Given the description of an element on the screen output the (x, y) to click on. 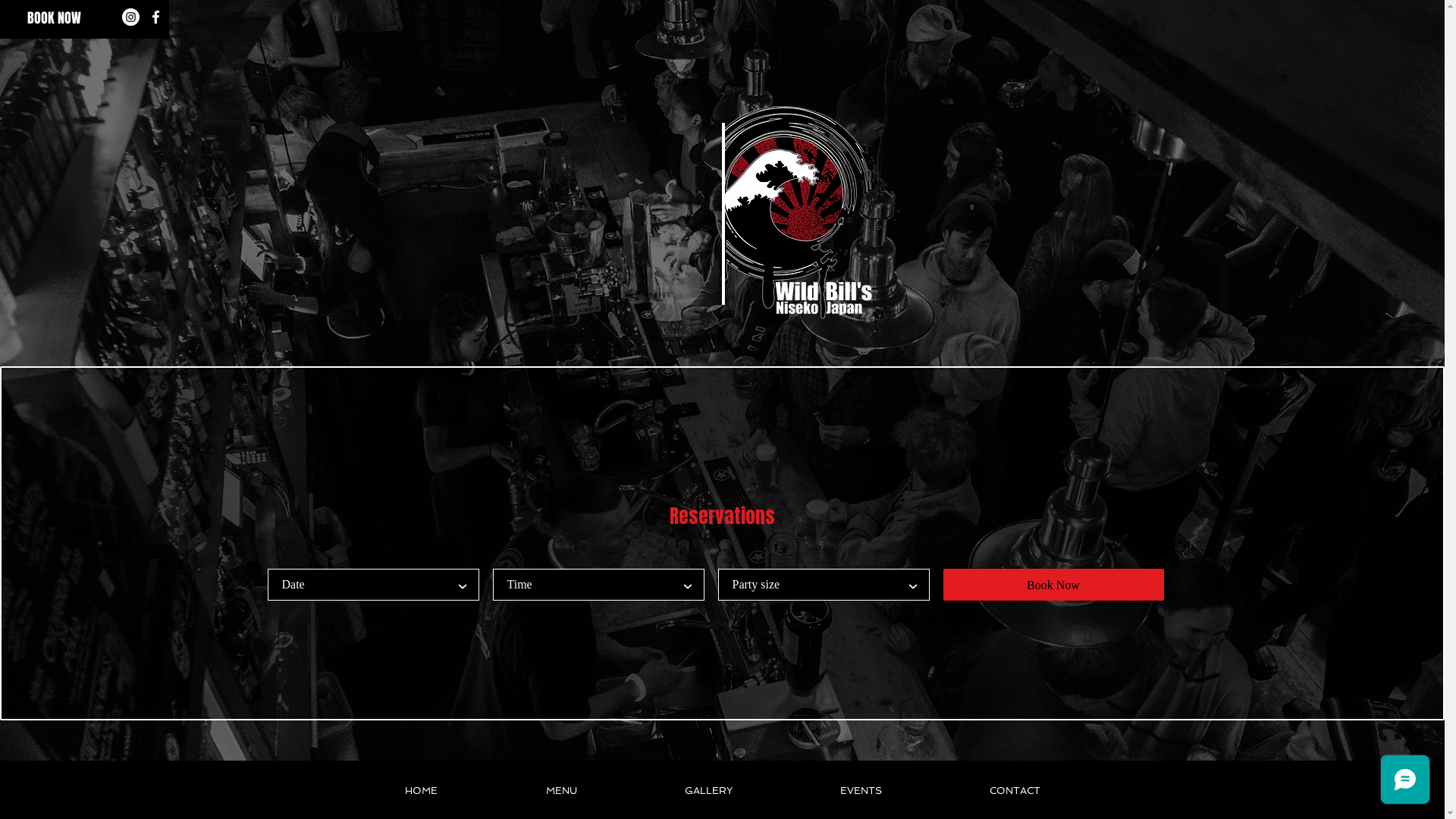
BOOK NOW Element type: text (53, 18)
CONTACT Element type: text (1014, 790)
EVENTS Element type: text (860, 790)
MENU Element type: text (560, 790)
GALLERY Element type: text (708, 790)
HOME Element type: text (420, 790)
Wix Reservations Element type: hover (722, 543)
